Given the description of an element on the screen output the (x, y) to click on. 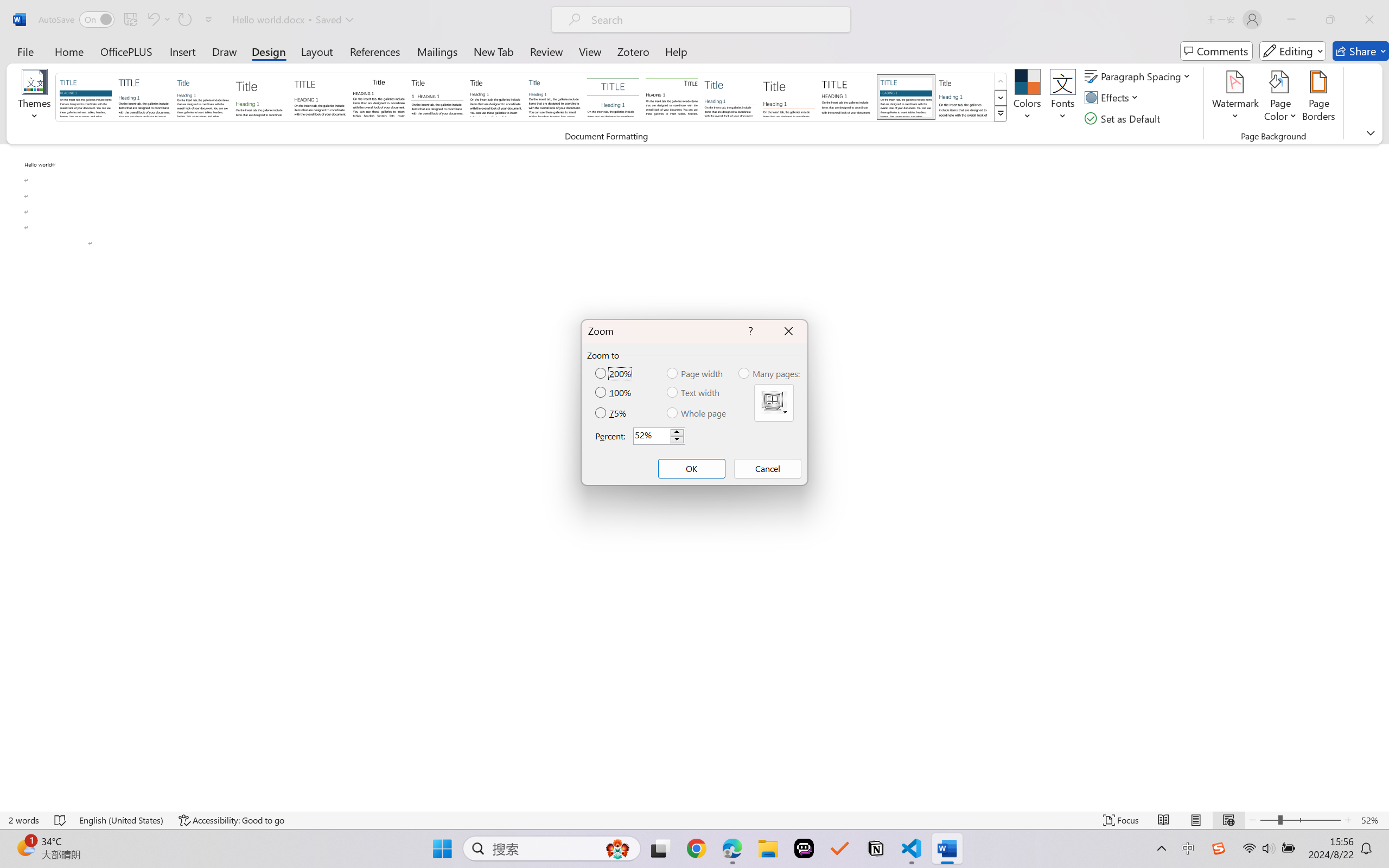
Undo Apply Quick Style Set (158, 19)
Percent: (658, 435)
Mailings (437, 51)
Web Layout (1228, 819)
Lines (Simple) (730, 96)
Zoom 52% (1372, 819)
Page width (695, 373)
Zoom Out (1268, 819)
MSO Generic Control Container (774, 402)
Shaded (905, 96)
Page Color (1280, 97)
AutomationID: QuickStylesSets (531, 97)
